Given the description of an element on the screen output the (x, y) to click on. 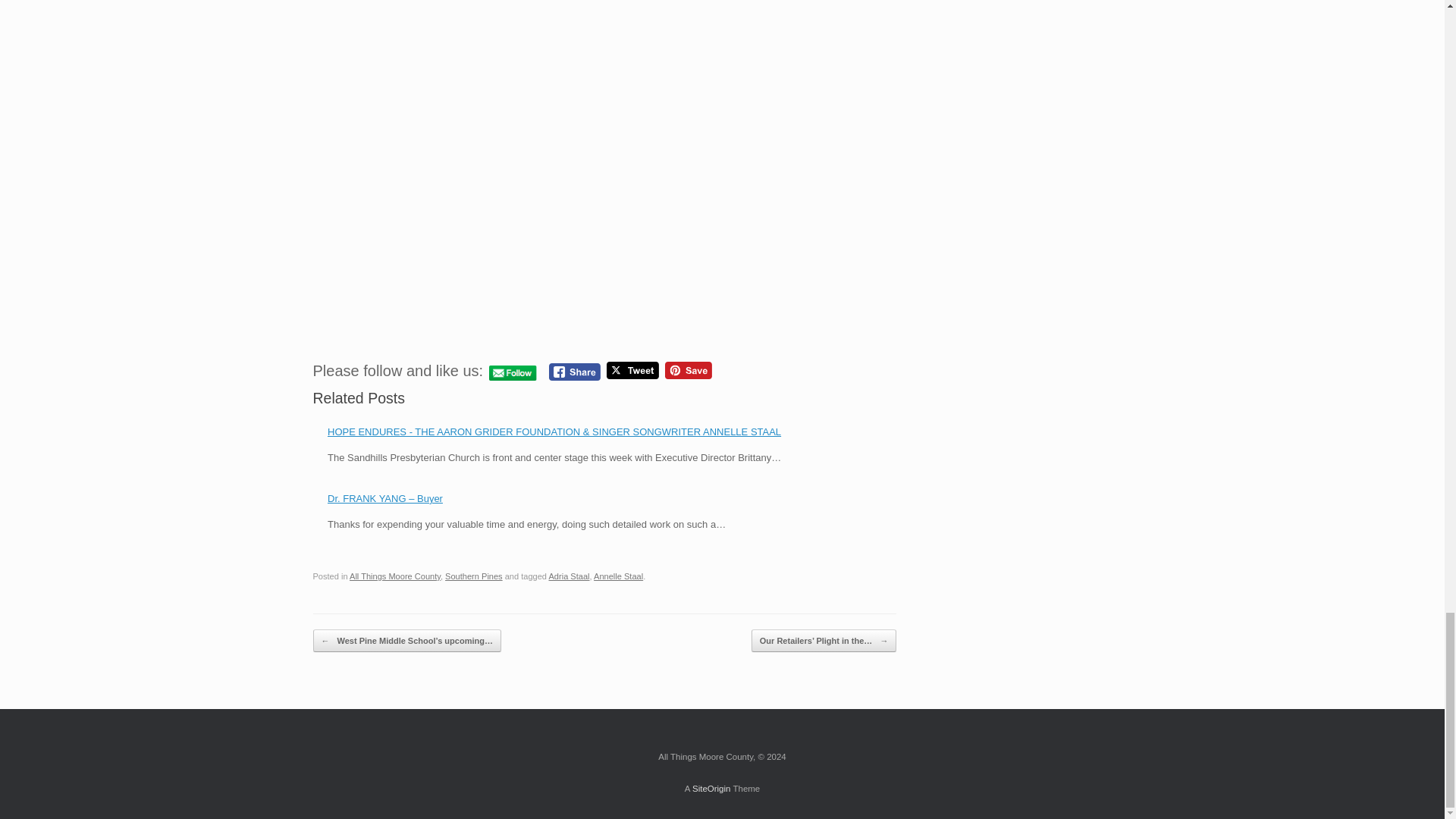
Southern Pines (473, 575)
Adria Staal (568, 575)
All Things Moore County (395, 575)
Facebook Share (573, 371)
Annelle Staal (618, 575)
Tweet (633, 370)
Pin Share (688, 370)
